Given the description of an element on the screen output the (x, y) to click on. 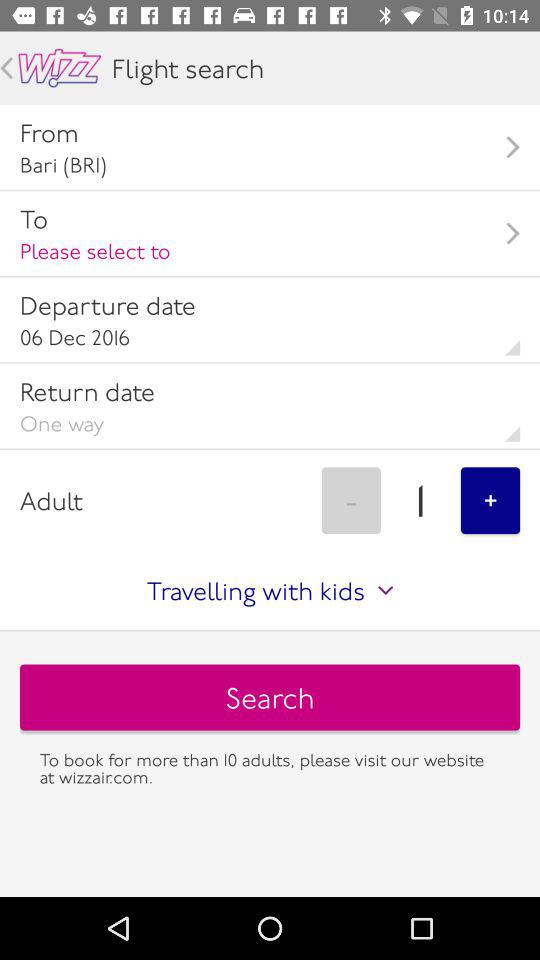
click the item next to the adult item (351, 500)
